Given the description of an element on the screen output the (x, y) to click on. 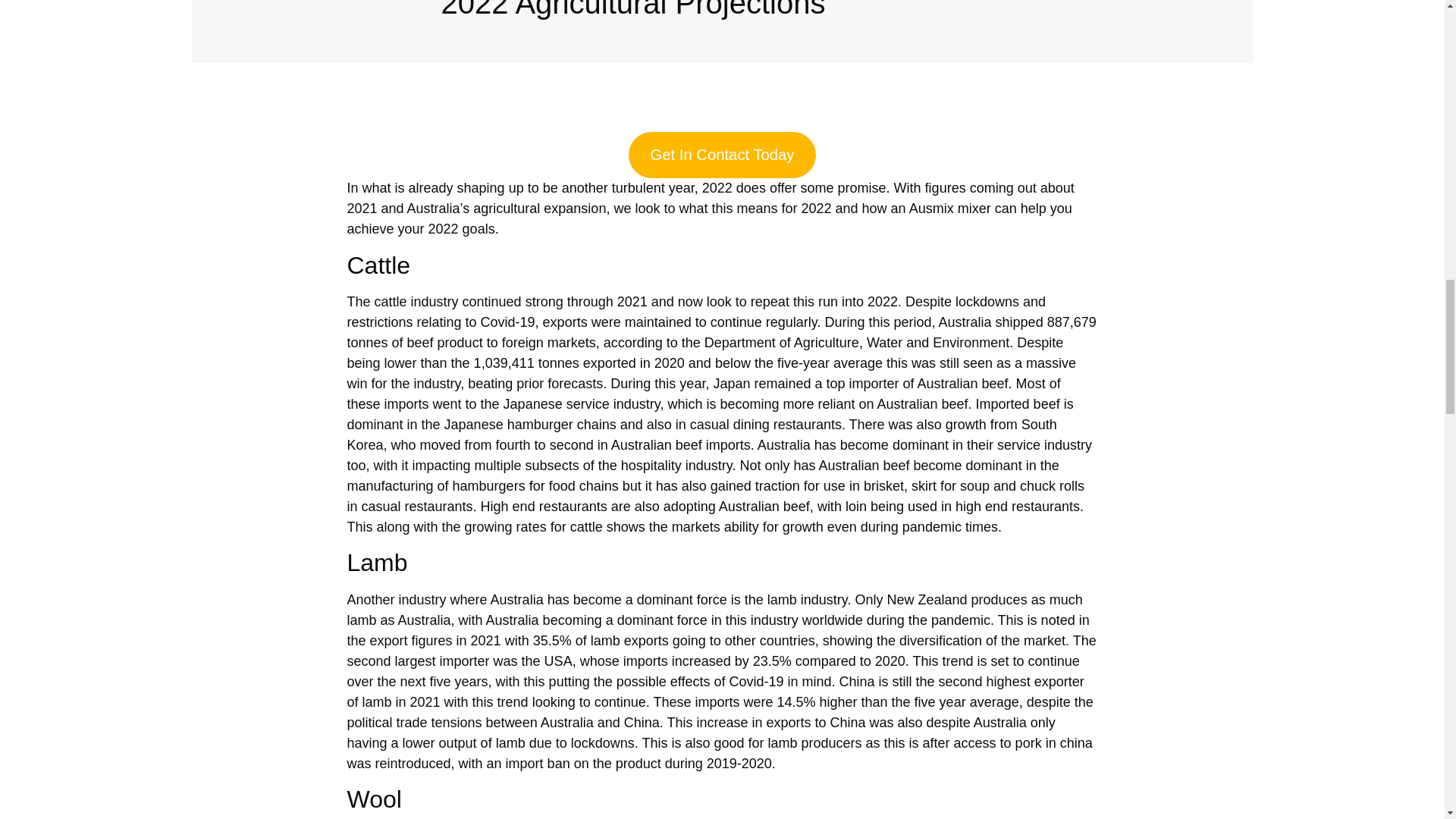
Get In Contact Today (722, 154)
